Given the description of an element on the screen output the (x, y) to click on. 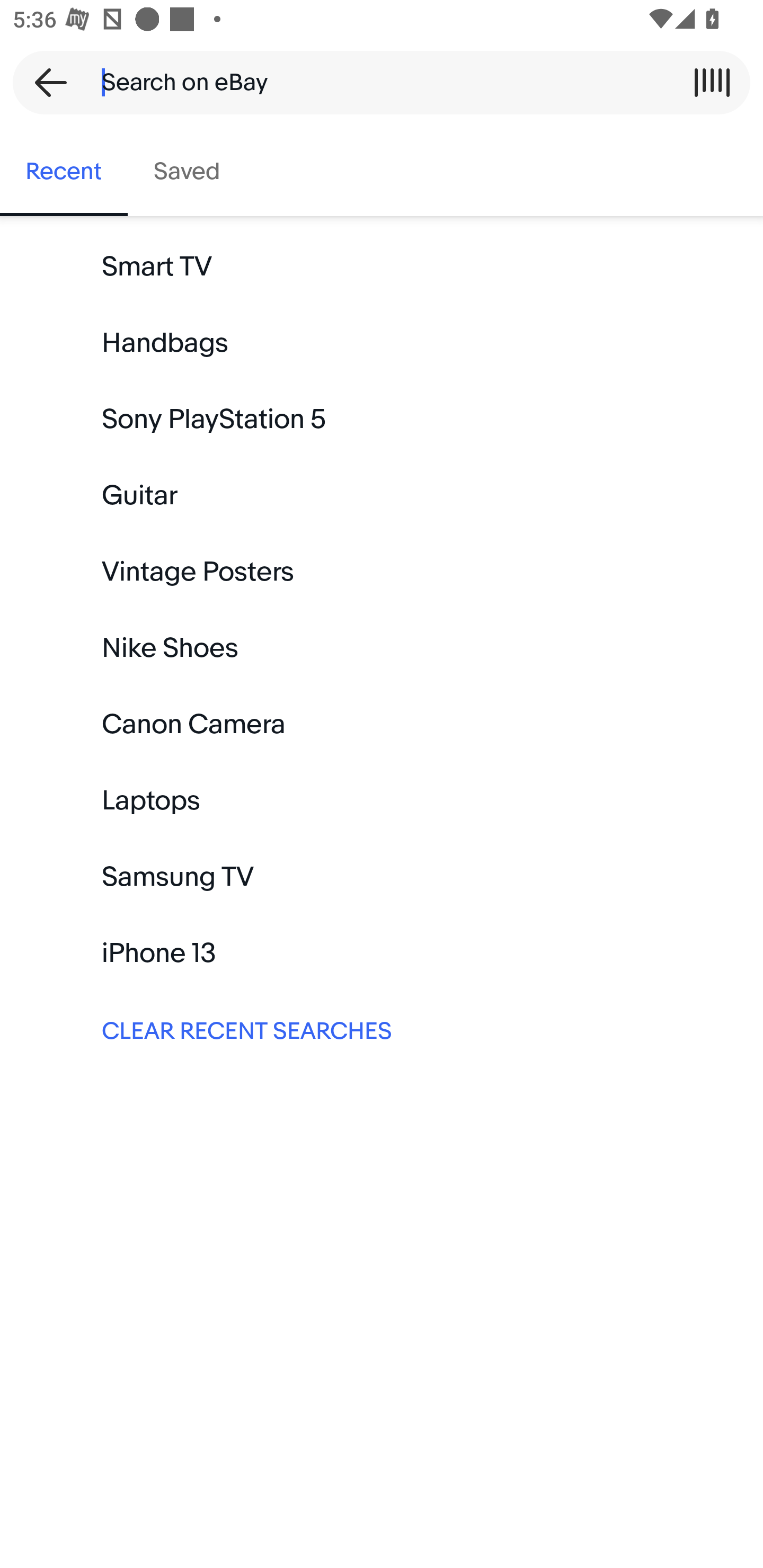
Back (44, 82)
Scan a barcode (711, 82)
Search on eBay (375, 82)
Saved, tab 2 of 2 Saved (186, 171)
Smart TV Keyword search Smart TV: (381, 266)
Handbags Keyword search Handbags: (381, 343)
Guitar Keyword search Guitar: (381, 495)
Vintage Posters Keyword search Vintage Posters: (381, 571)
Nike Shoes Keyword search Nike Shoes: (381, 647)
Canon Camera Keyword search Canon Camera: (381, 724)
Laptops Keyword search Laptops: (381, 800)
Samsung TV Keyword search Samsung TV: (381, 876)
iPhone 13 Keyword search iPhone 13: (381, 952)
CLEAR RECENT SEARCHES (381, 1028)
